Given the description of an element on the screen output the (x, y) to click on. 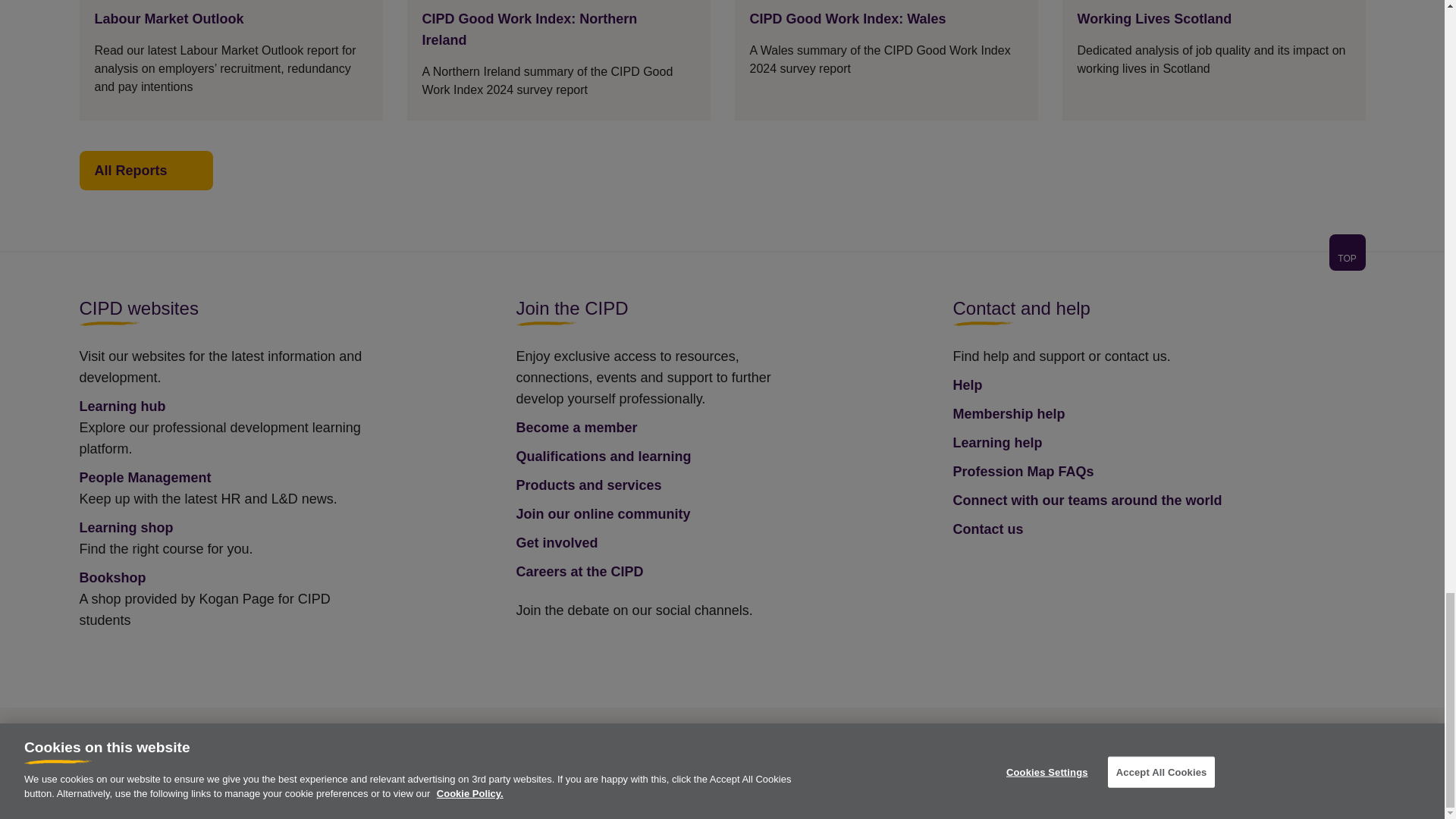
TOP (1346, 252)
TOP (721, 261)
TOP (1346, 258)
